Given the description of an element on the screen output the (x, y) to click on. 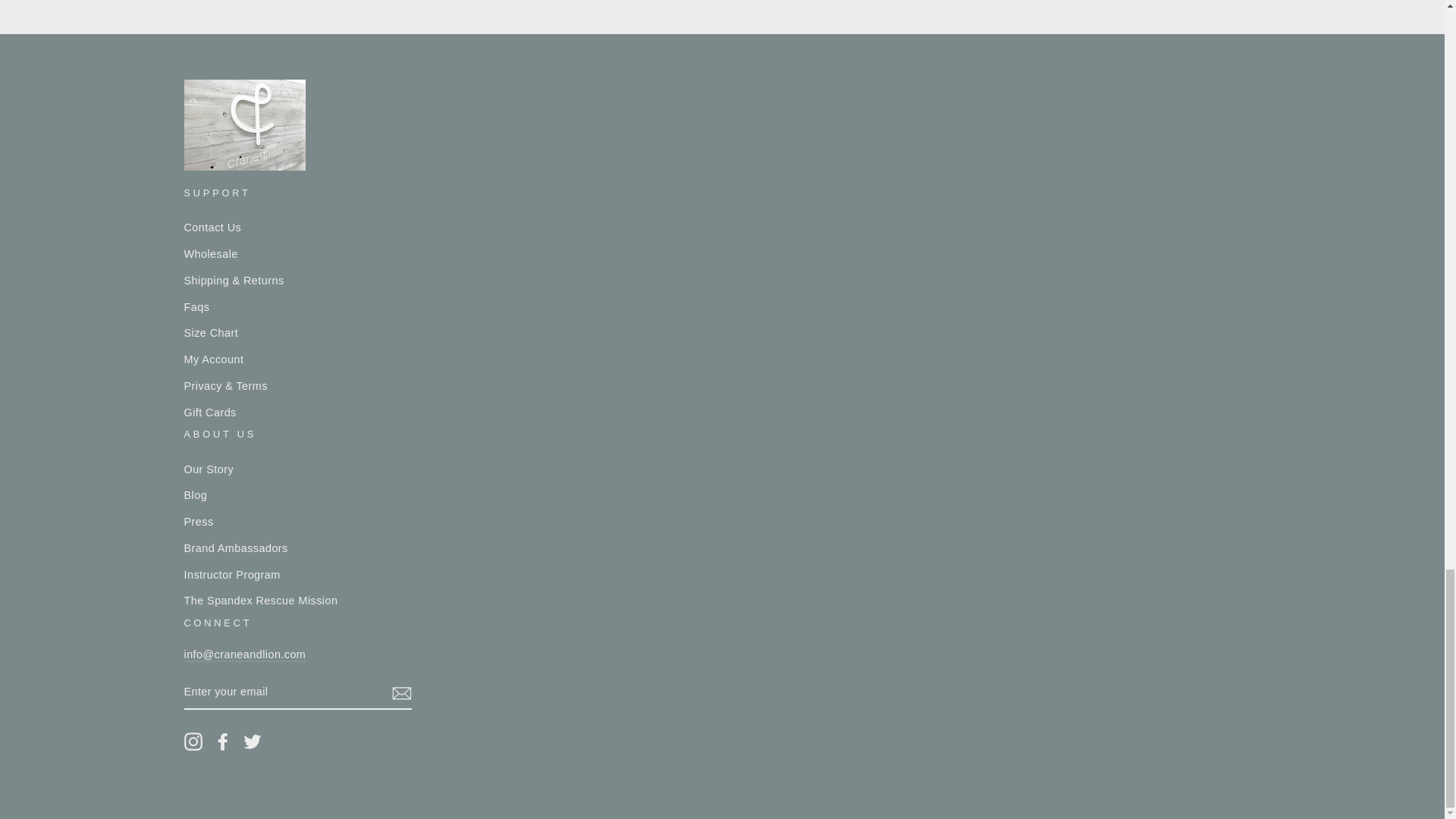
Crane and Lion on Twitter (251, 741)
Crane and Lion on Facebook (222, 741)
Crane and Lion on Instagram (192, 741)
